Given the description of an element on the screen output the (x, y) to click on. 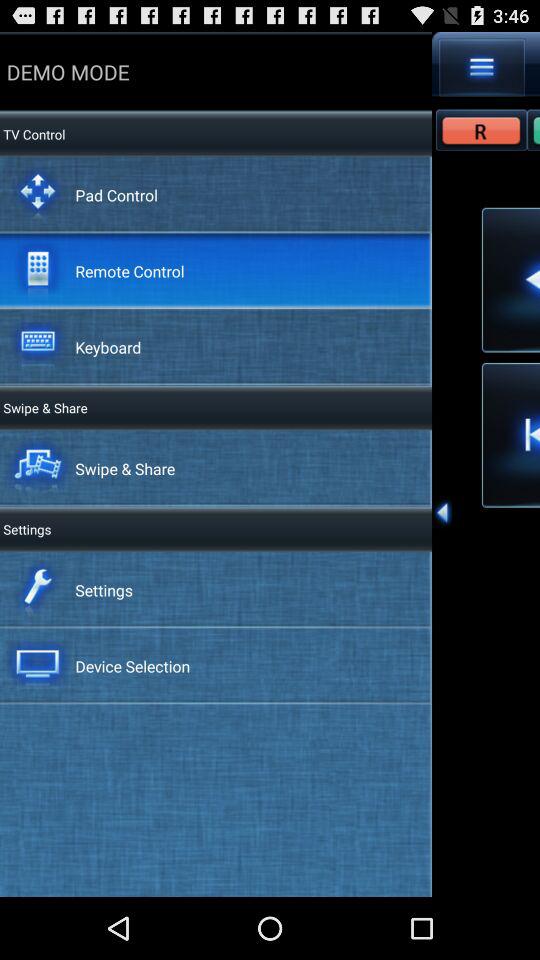
turn on the icon below demo mode item (32, 133)
